Given the description of an element on the screen output the (x, y) to click on. 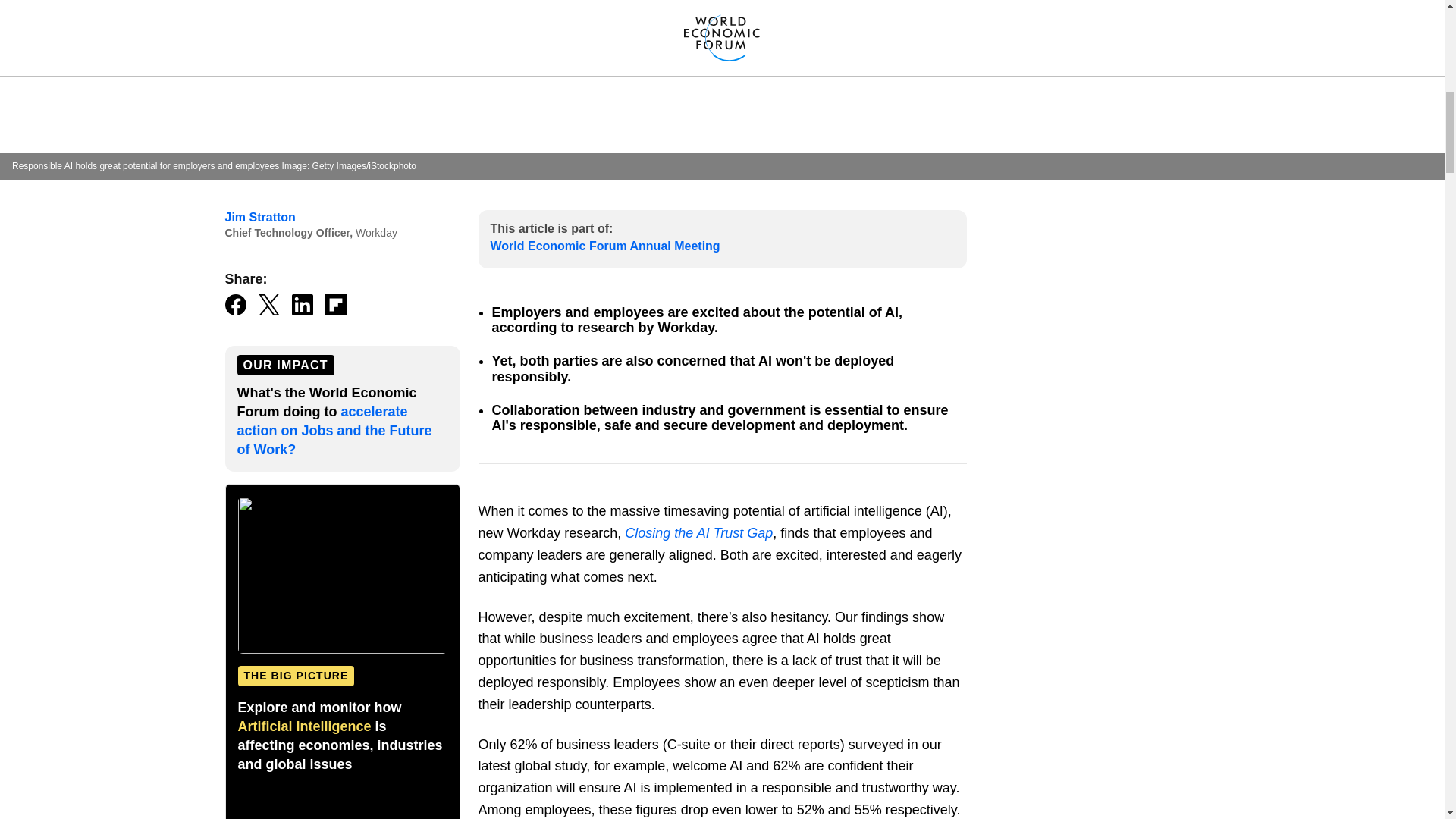
Jim Stratton (259, 216)
World Economic Forum Annual Meeting (604, 245)
Closing the AI Trust Gap (698, 532)
